Given the description of an element on the screen output the (x, y) to click on. 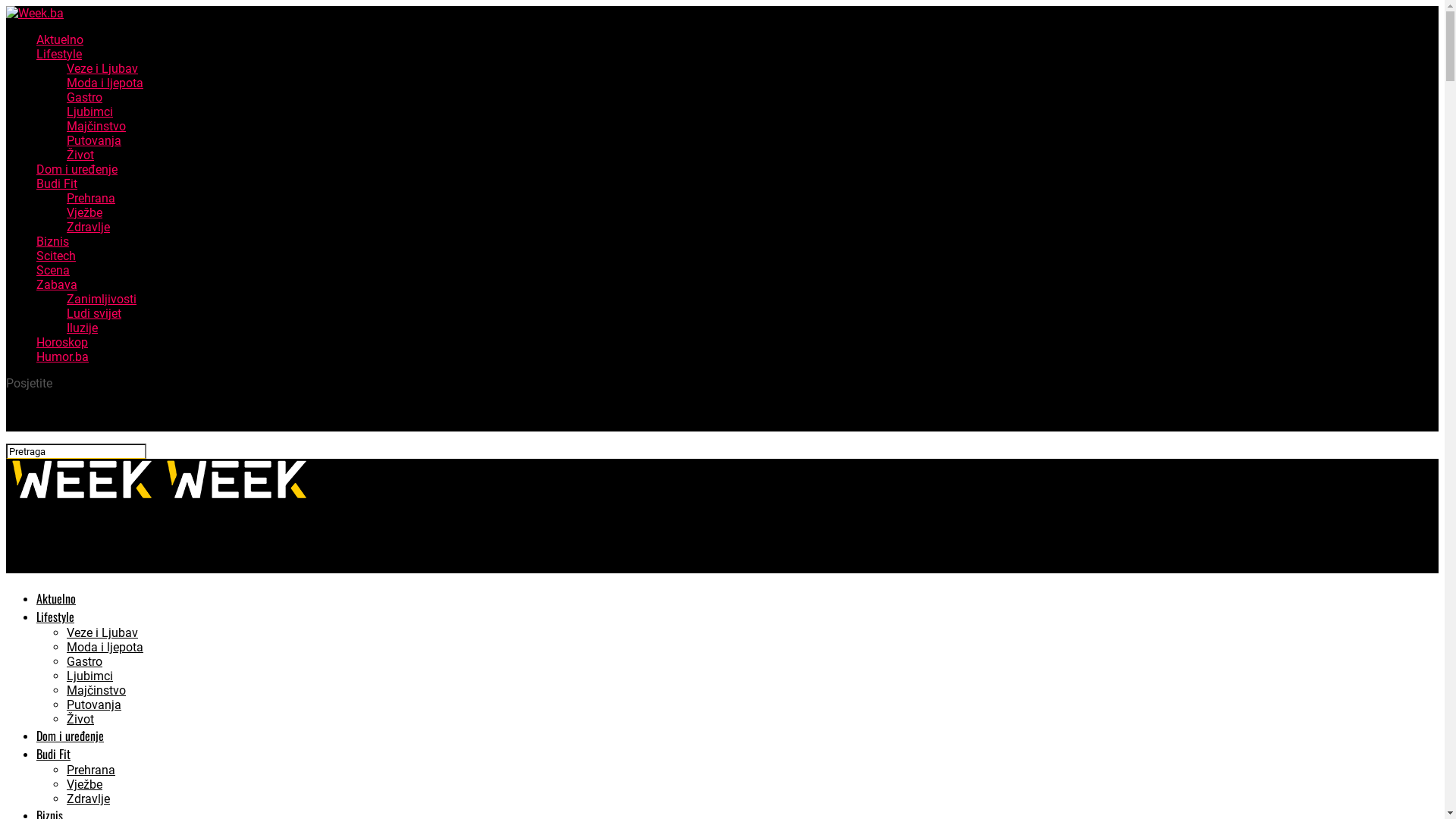
Zdravlje Element type: text (87, 226)
Humor.ba Element type: text (62, 356)
Biznis Element type: text (52, 241)
Prehrana Element type: text (90, 769)
Iluzije Element type: text (81, 327)
Aktuelno Element type: text (55, 598)
Ljubimci Element type: text (89, 675)
Horoskop Element type: text (61, 342)
Zabava Element type: text (56, 284)
Budi Fit Element type: text (56, 183)
Moda i ljepota Element type: text (104, 82)
Zdravlje Element type: text (87, 798)
Prehrana Element type: text (90, 198)
Gastro Element type: text (84, 661)
Putovanja Element type: text (93, 140)
Gastro Element type: text (84, 97)
Lifestyle Element type: text (58, 54)
Putovanja Element type: text (93, 704)
Moda i ljepota Element type: text (104, 647)
Ljubimci Element type: text (89, 111)
Budi Fit Element type: text (53, 753)
Aktuelno Element type: text (59, 39)
Lifestyle Element type: text (55, 616)
Veze i Ljubav Element type: text (102, 632)
Veze i Ljubav Element type: text (102, 68)
Scitech Element type: text (55, 255)
Zanimljivosti Element type: text (101, 298)
Ludi svijet Element type: text (93, 313)
Scena Element type: text (52, 270)
